Given the description of an element on the screen output the (x, y) to click on. 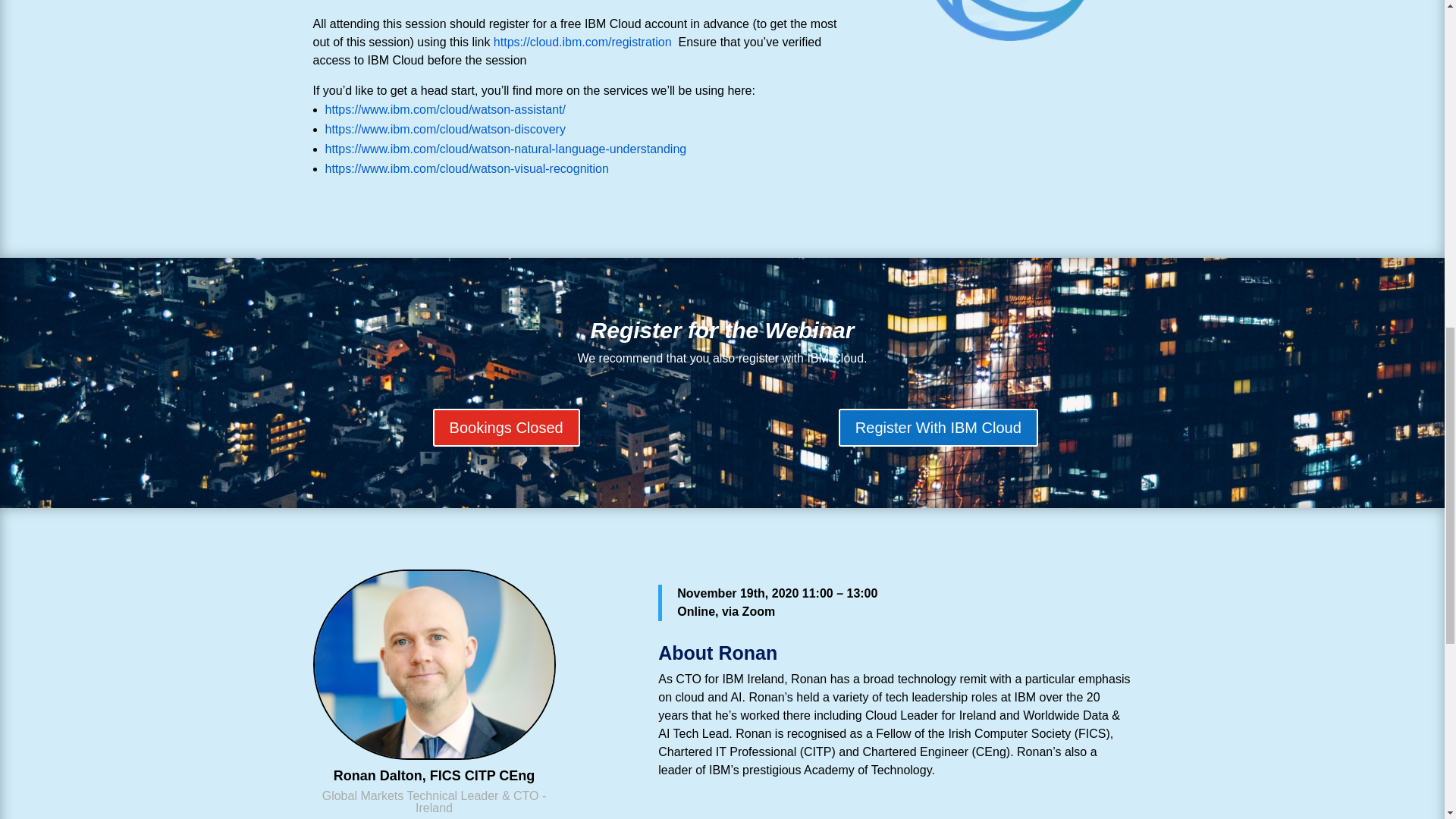
Bookings Closed (505, 427)
Register With IBM Cloud (938, 427)
